Given the description of an element on the screen output the (x, y) to click on. 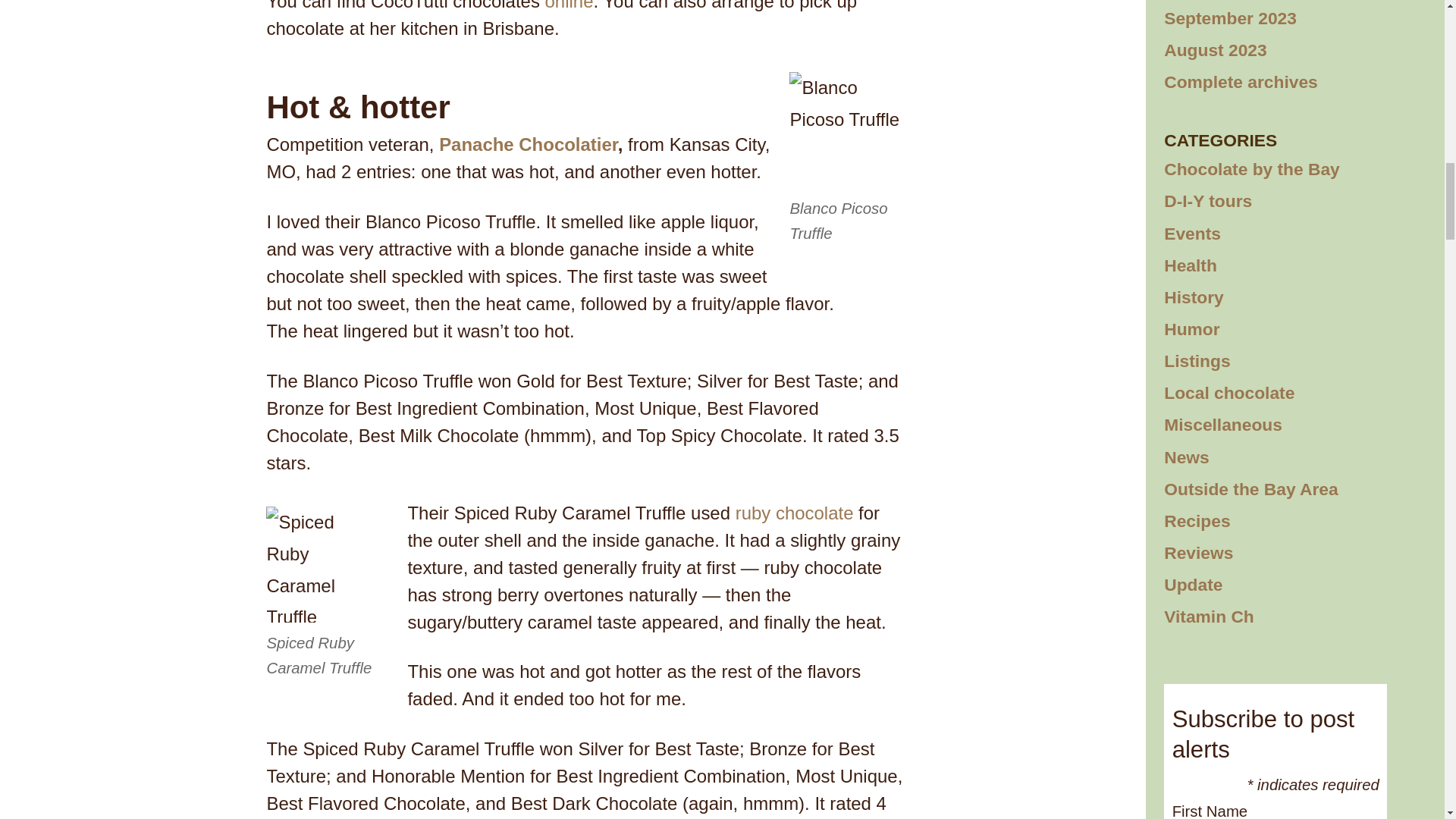
Panache Chocolatier (528, 144)
ruby chocolate (794, 512)
online (569, 5)
